Given the description of an element on the screen output the (x, y) to click on. 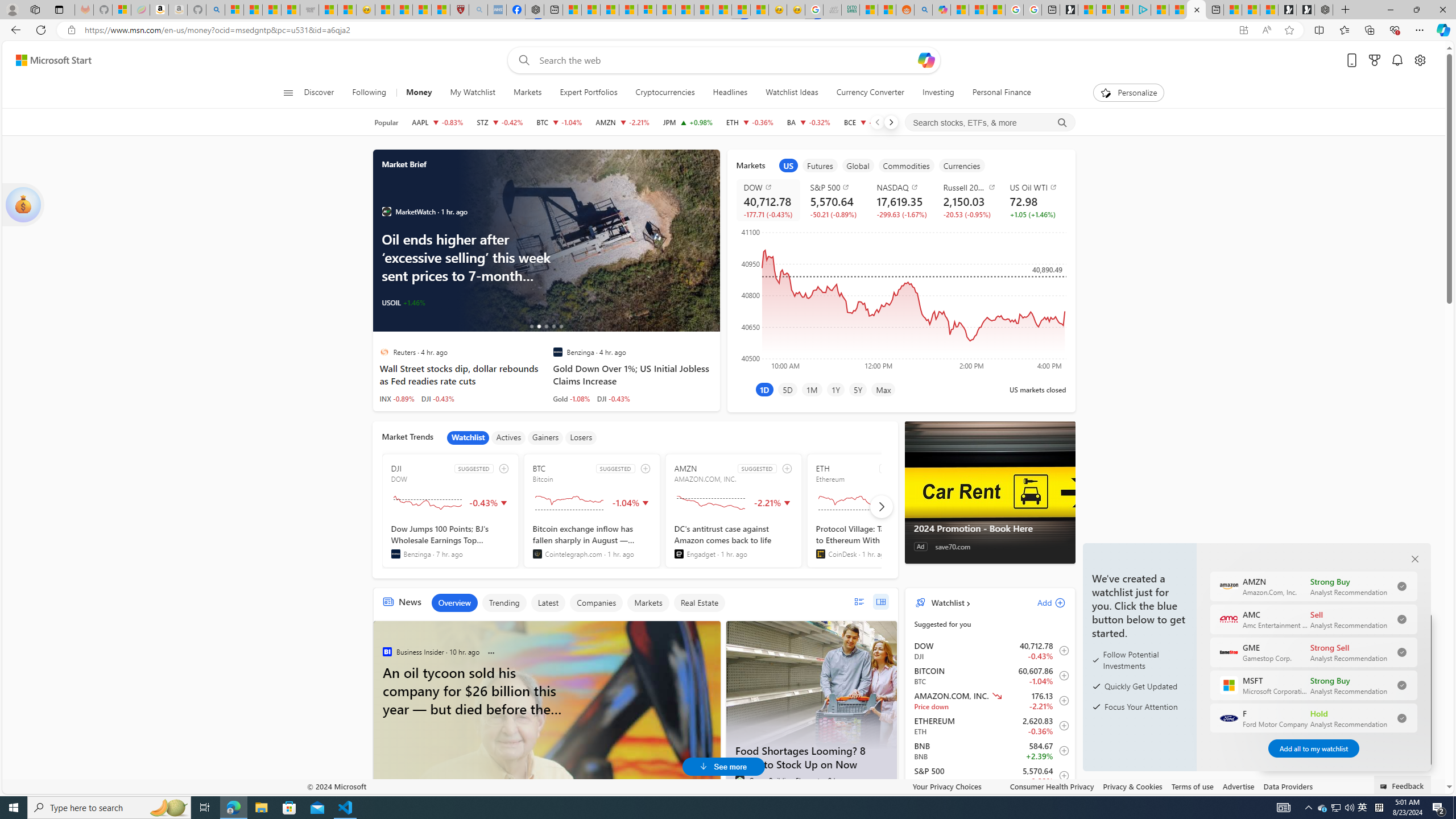
See more (1328, 787)
Currency Converter (869, 92)
Latest (546, 602)
Max (882, 389)
Markets (526, 92)
5D (787, 389)
AMZN SUGGESTED AMAZON.COM, INC. (733, 510)
Nordace - Nordace Siena Is Not An Ordinary Backpack (1324, 9)
Real Estate (698, 602)
show card (22, 204)
Advertise (1238, 785)
Business Insider (386, 651)
